Given the description of an element on the screen output the (x, y) to click on. 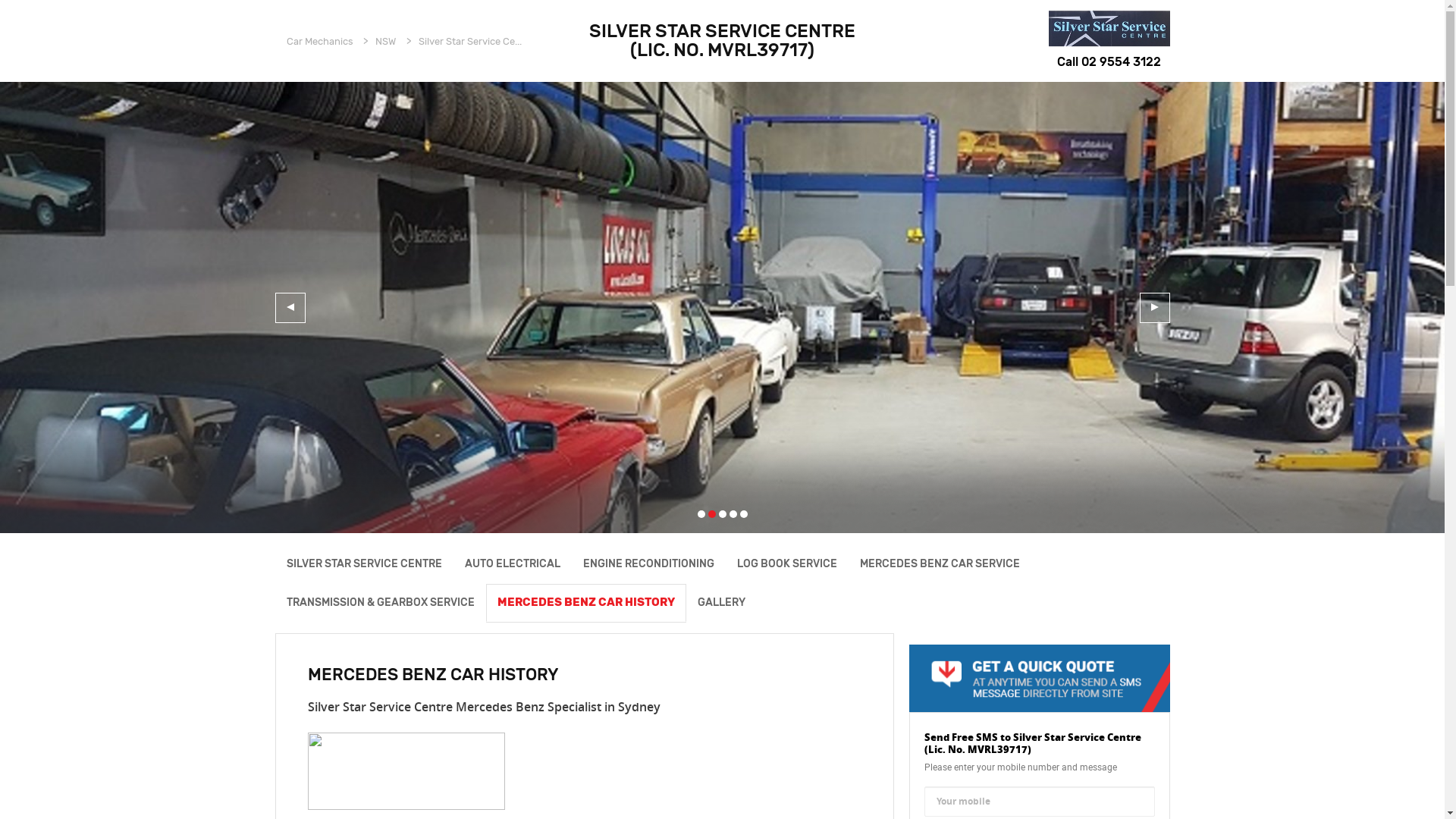
LOG BOOK SERVICE Element type: text (785, 564)
AUTO ELECTRICAL Element type: text (512, 564)
MERCEDES BENZ CAR HISTORY Element type: text (585, 602)
5 Element type: text (743, 513)
ENGINE RECONDITIONING Element type: text (648, 564)
NSW Element type: text (385, 41)
Car Mechanics Element type: text (319, 41)
3 Element type: text (722, 513)
TRANSMISSION & GEARBOX SERVICE Element type: text (379, 602)
Previous Element type: text (289, 307)
MERCEDES BENZ CAR SERVICE Element type: text (938, 564)
Call 02 9554 3122 Element type: text (1109, 62)
2 Element type: text (711, 513)
GALLERY Element type: text (720, 602)
SILVER STAR SERVICE CENTRE Element type: text (363, 564)
4 Element type: text (733, 513)
Next Element type: text (1154, 307)
1 Element type: text (701, 513)
